Given the description of an element on the screen output the (x, y) to click on. 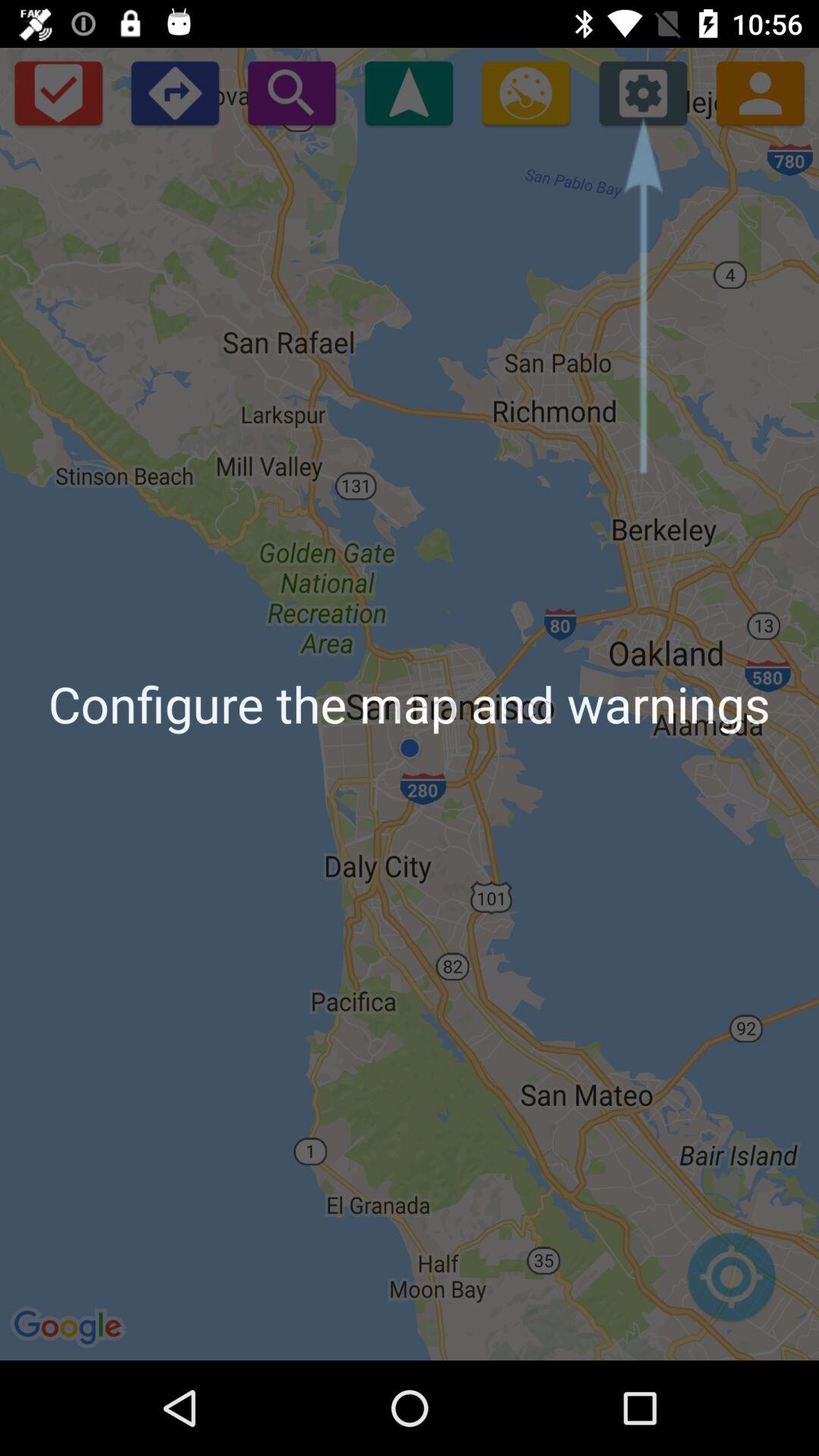
show user profile (760, 92)
